Given the description of an element on the screen output the (x, y) to click on. 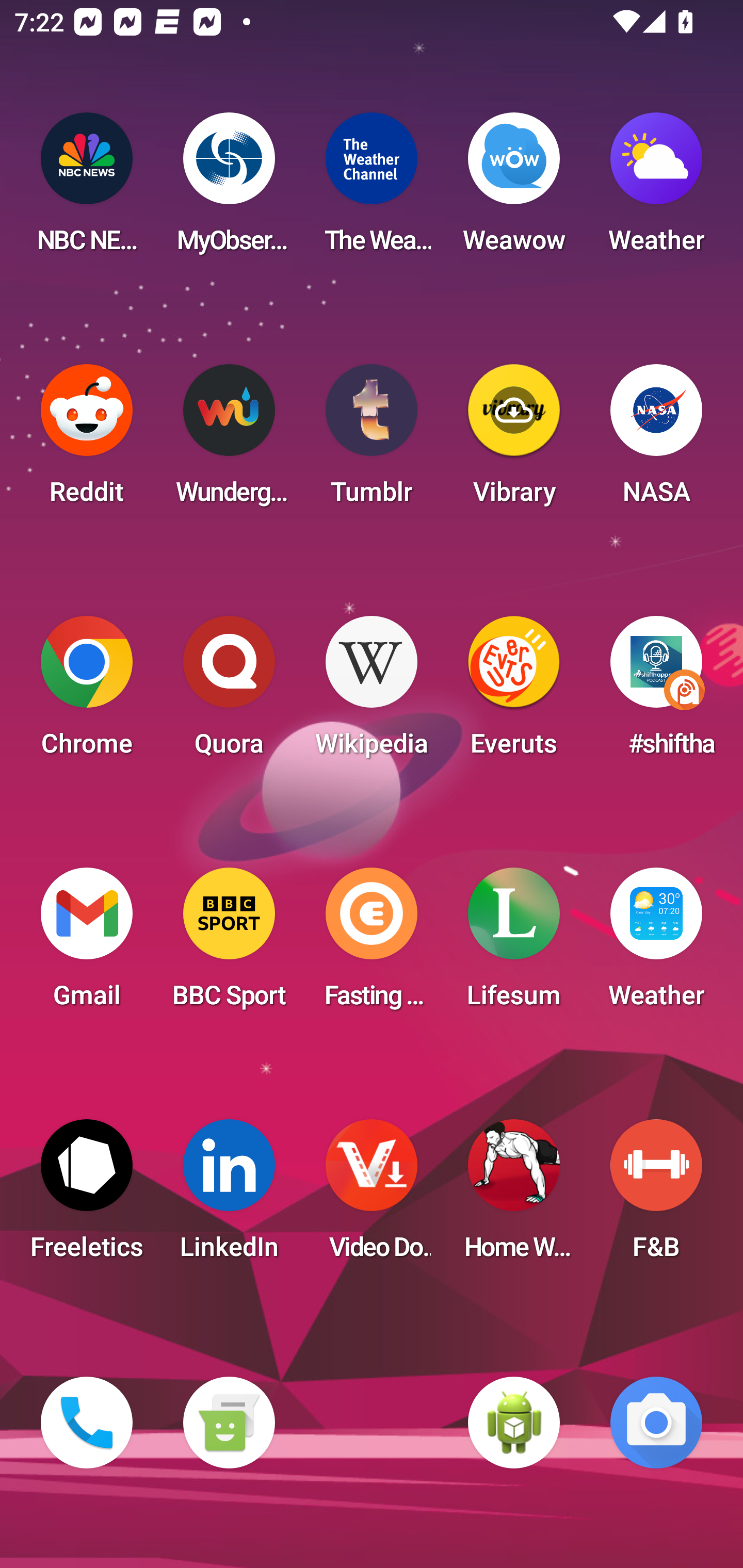
NBC NEWS (86, 188)
MyObservatory (228, 188)
The Weather Channel (371, 188)
Weawow (513, 188)
Weather (656, 188)
Reddit (86, 440)
Wunderground (228, 440)
Tumblr (371, 440)
Vibrary (513, 440)
NASA (656, 440)
Chrome (86, 692)
Quora (228, 692)
Wikipedia (371, 692)
Everuts (513, 692)
#shifthappens in the Digital Workplace Podcast (656, 692)
Gmail (86, 943)
BBC Sport (228, 943)
Fasting Coach (371, 943)
Lifesum (513, 943)
Weather (656, 943)
Freeletics (86, 1195)
LinkedIn (228, 1195)
Video Downloader & Ace Player (371, 1195)
Home Workout (513, 1195)
F&B (656, 1195)
Phone (86, 1422)
Messaging (228, 1422)
WebView Browser Tester (513, 1422)
Camera (656, 1422)
